Given the description of an element on the screen output the (x, y) to click on. 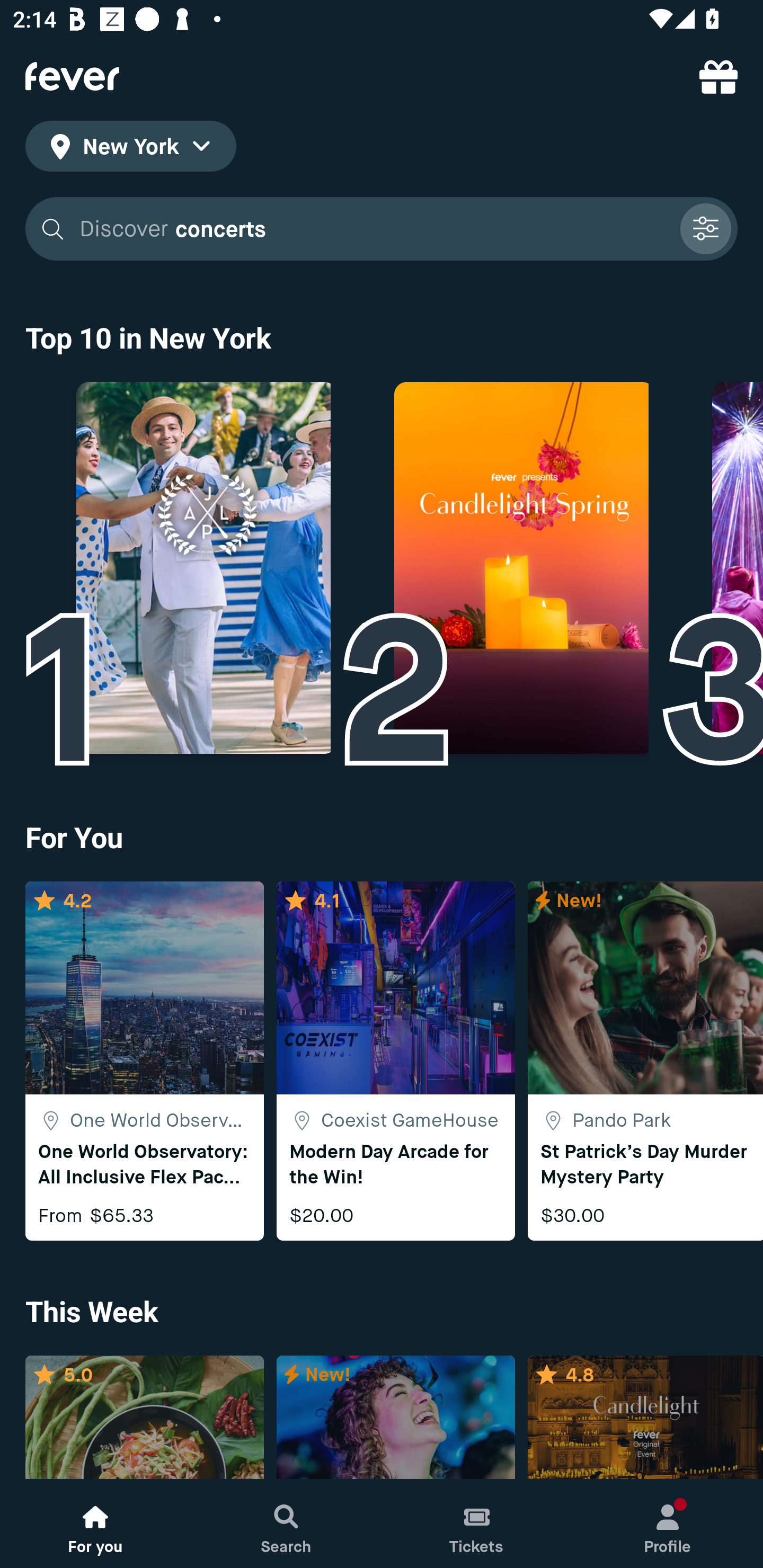
referral (718, 75)
location icon New York location icon (130, 149)
Discover concerts (381, 228)
Discover concerts (373, 228)
cover image 50.0 5.0 (144, 1417)
cover image New! label New! (395, 1417)
cover image 50.0 4.8 Fever exclusive (645, 1417)
Search (285, 1523)
Tickets (476, 1523)
Profile, New notification Profile (667, 1523)
